Given the description of an element on the screen output the (x, y) to click on. 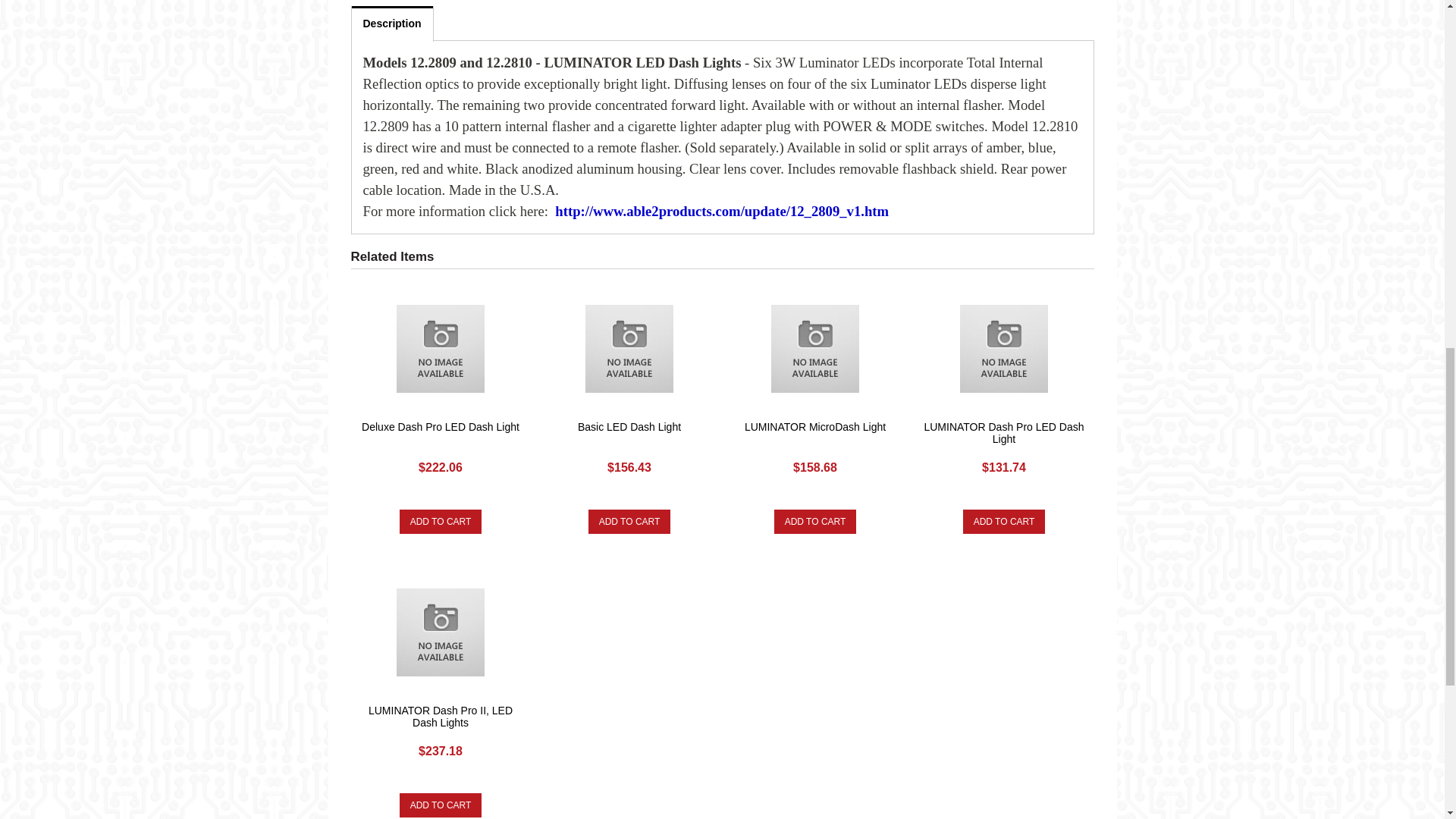
Add To Cart (815, 521)
Add To Cart (629, 521)
Add To Cart (439, 521)
Add To Cart (439, 805)
Add To Cart (1003, 521)
